Given the description of an element on the screen output the (x, y) to click on. 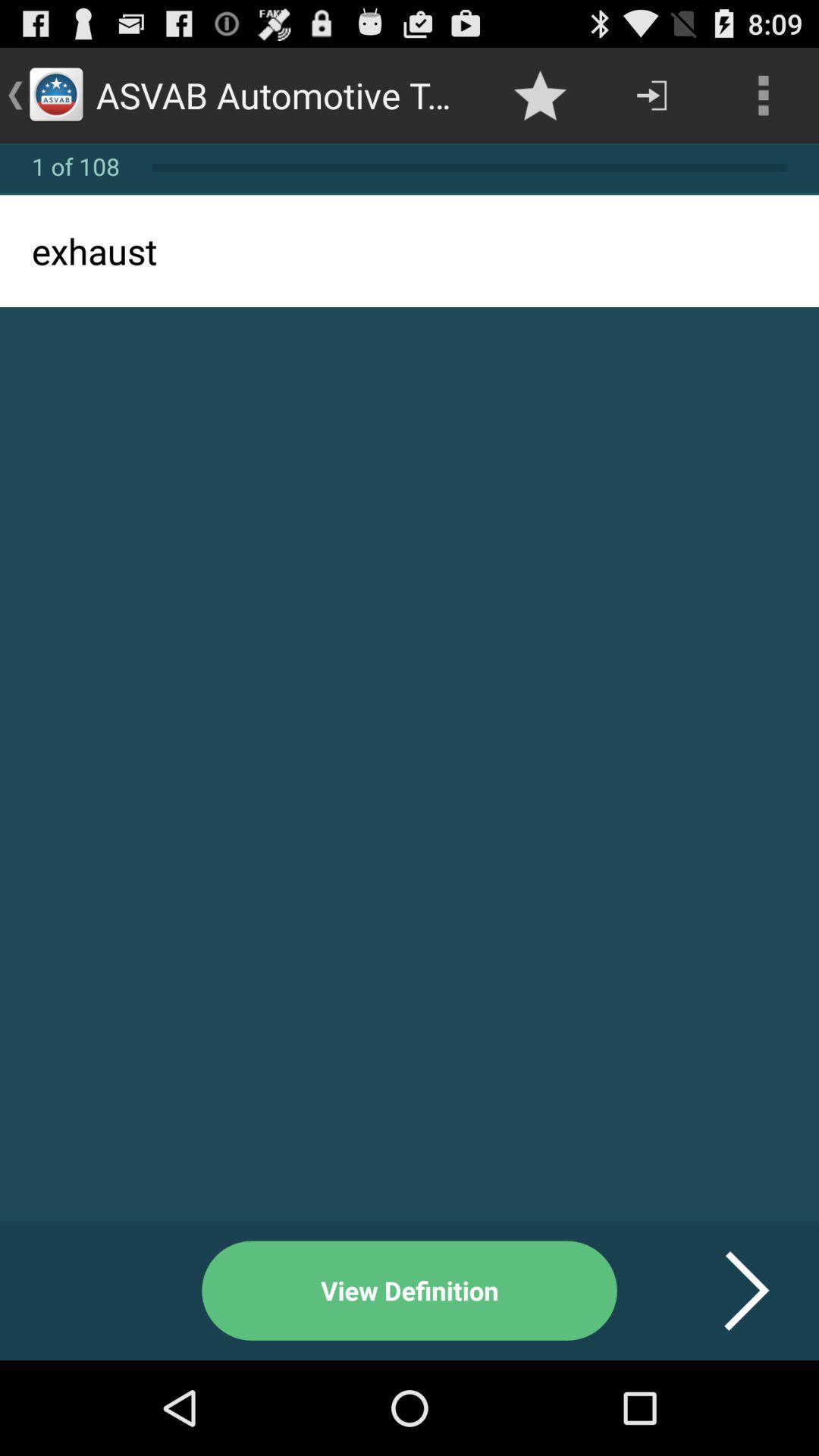
turn on the button at the bottom (409, 1290)
